Given the description of an element on the screen output the (x, y) to click on. 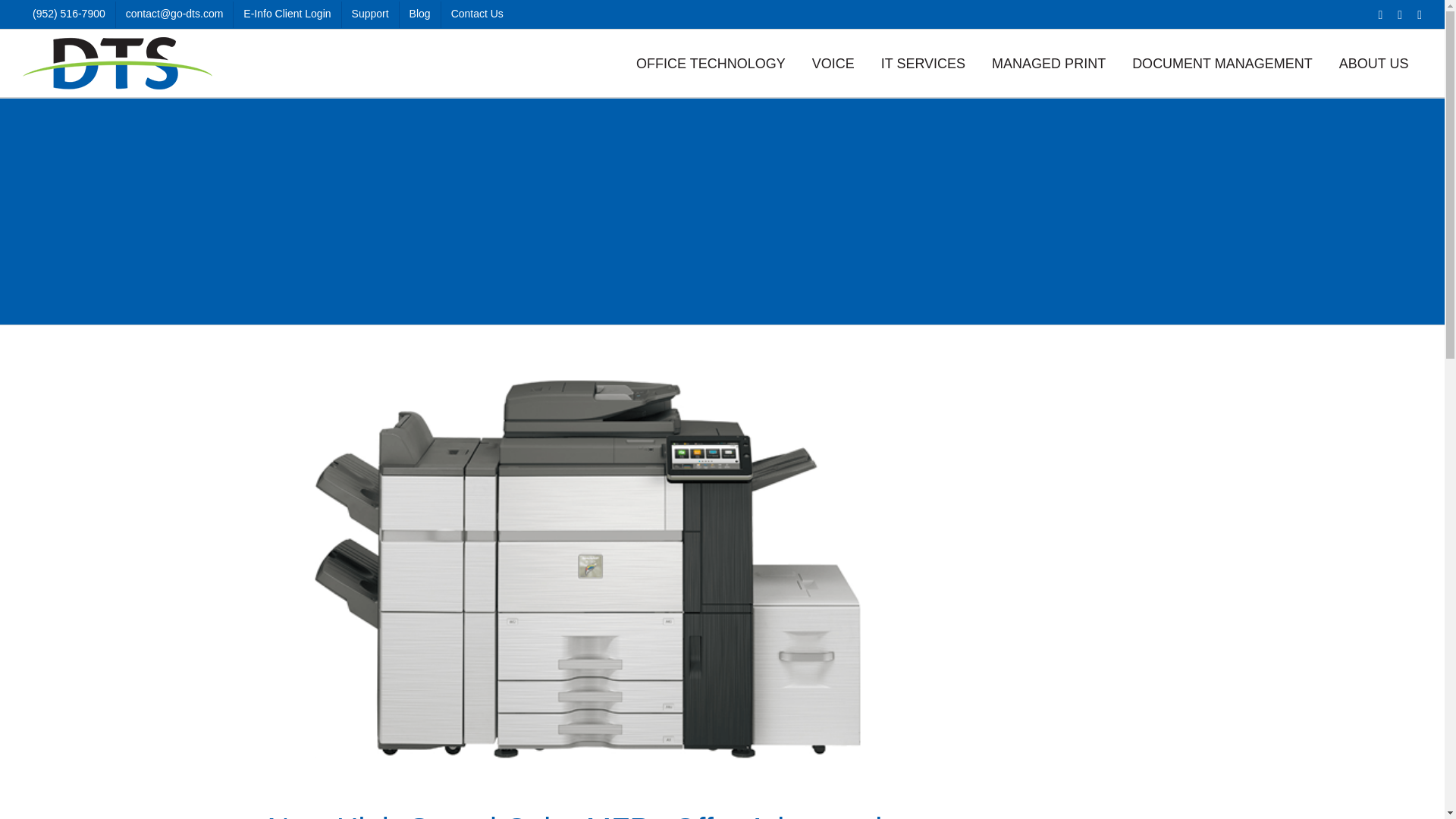
E-Info Client Login (286, 14)
Support (370, 14)
Contact Us (477, 14)
OFFICE TECHNOLOGY (711, 63)
Blog (419, 14)
IT SERVICES (922, 63)
VOICE (832, 63)
MANAGED PRINT (1048, 63)
DOCUMENT MANAGEMENT (1222, 63)
